Given the description of an element on the screen output the (x, y) to click on. 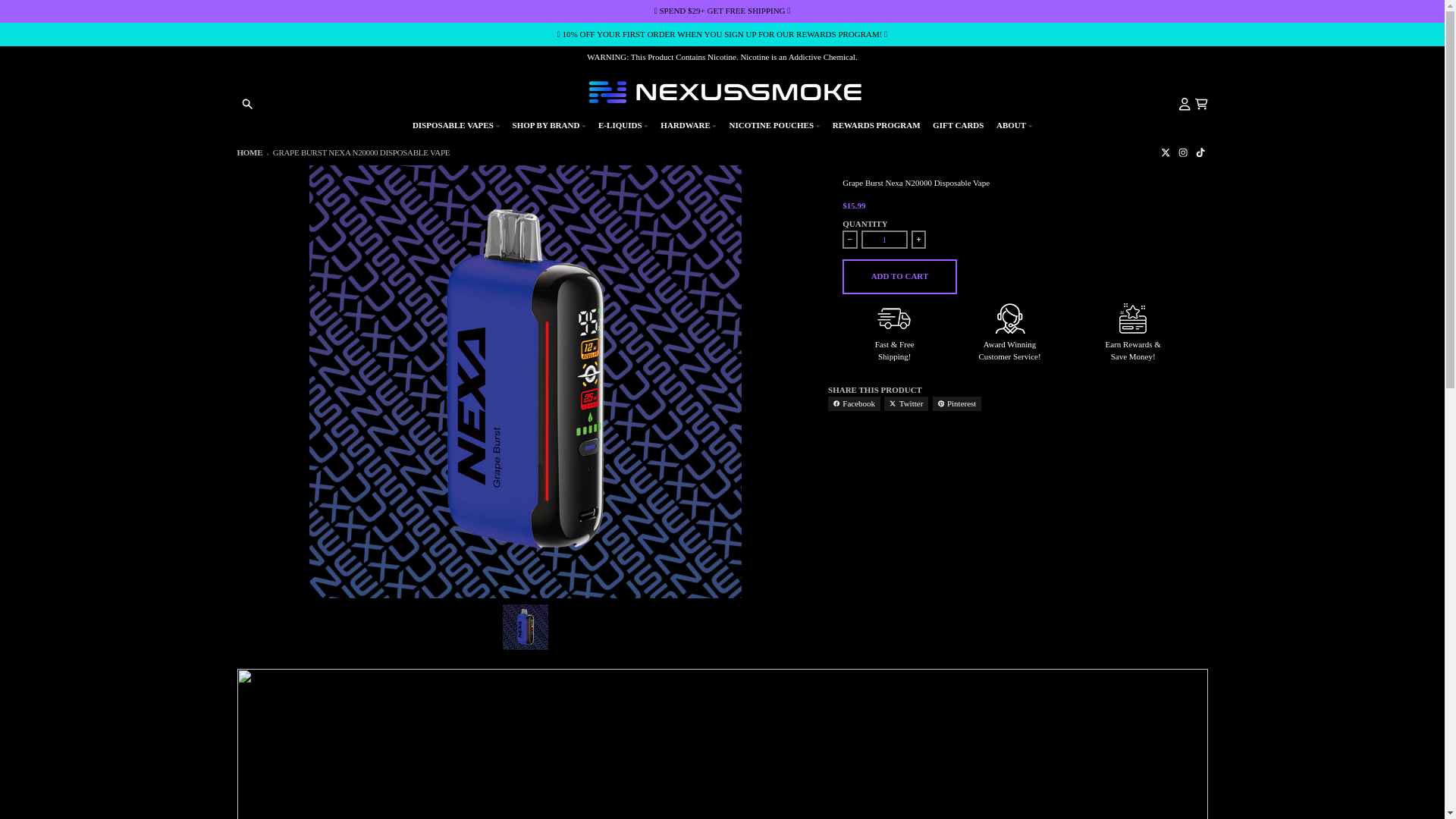
TikTok - Nexus Smoke (1200, 151)
Back to the homepage (248, 152)
Twitter - Nexus Smoke (1165, 151)
Instagram - Nexus Smoke (1182, 151)
Search (247, 103)
1 (884, 239)
